Given the description of an element on the screen output the (x, y) to click on. 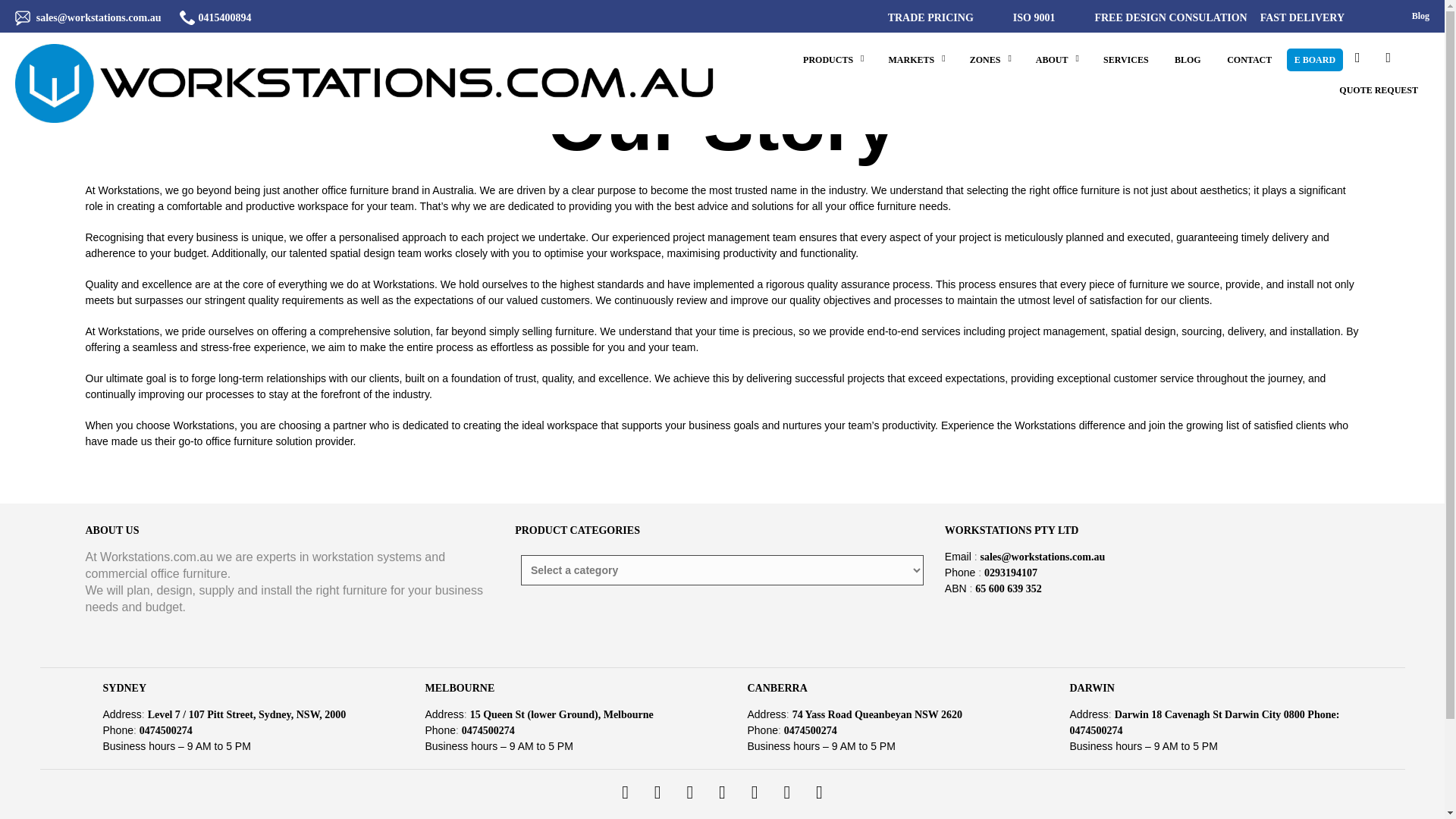
TRADE PRICING (924, 17)
ISO 9001 (1034, 17)
ZONES (984, 59)
Blog (1420, 16)
FAST DELIVERY (1301, 17)
0415400894 (224, 17)
Workstations (368, 83)
MARKETS (911, 59)
PRODUCTS (828, 59)
FREE DESIGN CONSULATION (1170, 17)
